Given the description of an element on the screen output the (x, y) to click on. 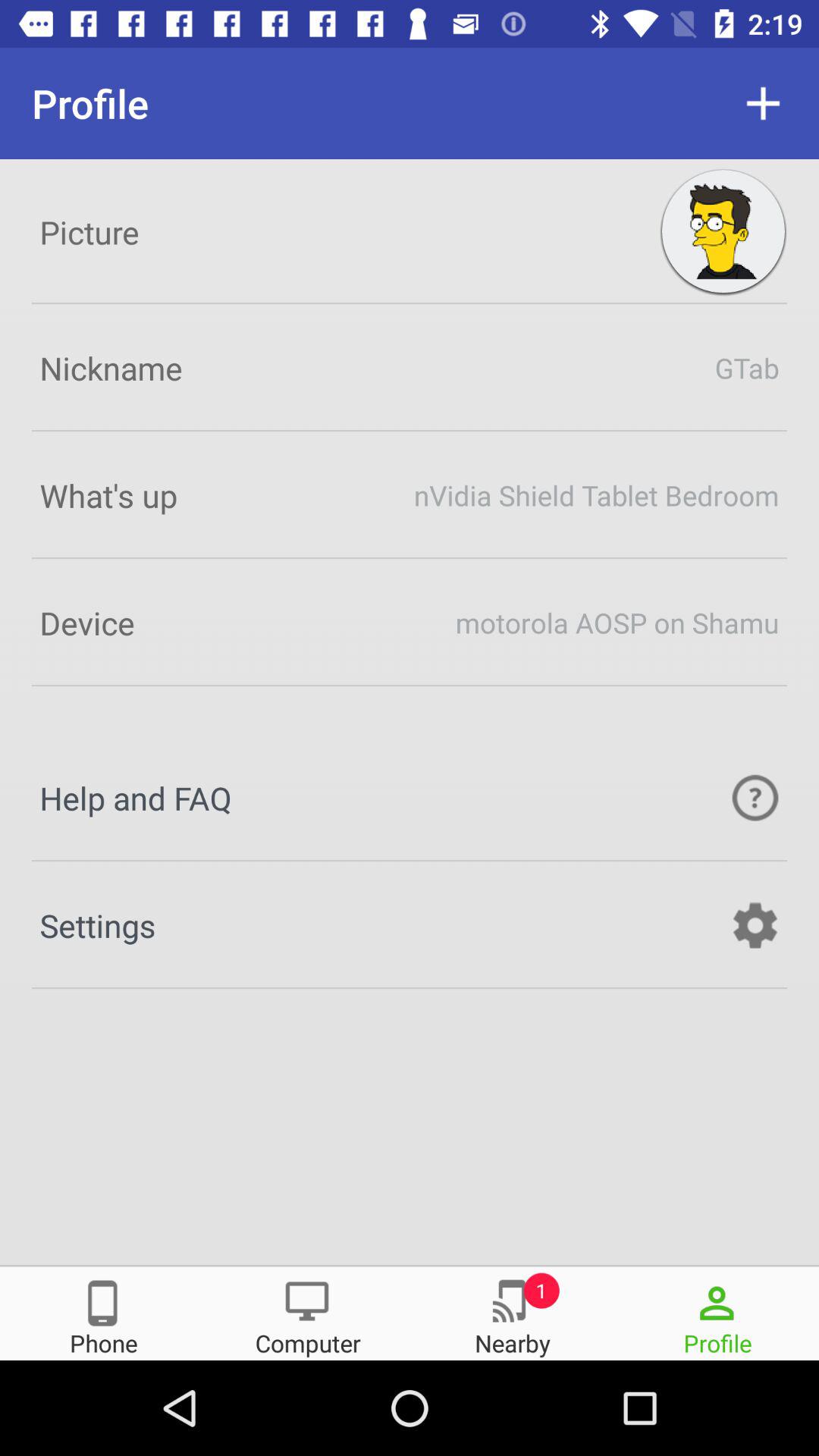
turn on item above gtab icon (723, 231)
